Given the description of an element on the screen output the (x, y) to click on. 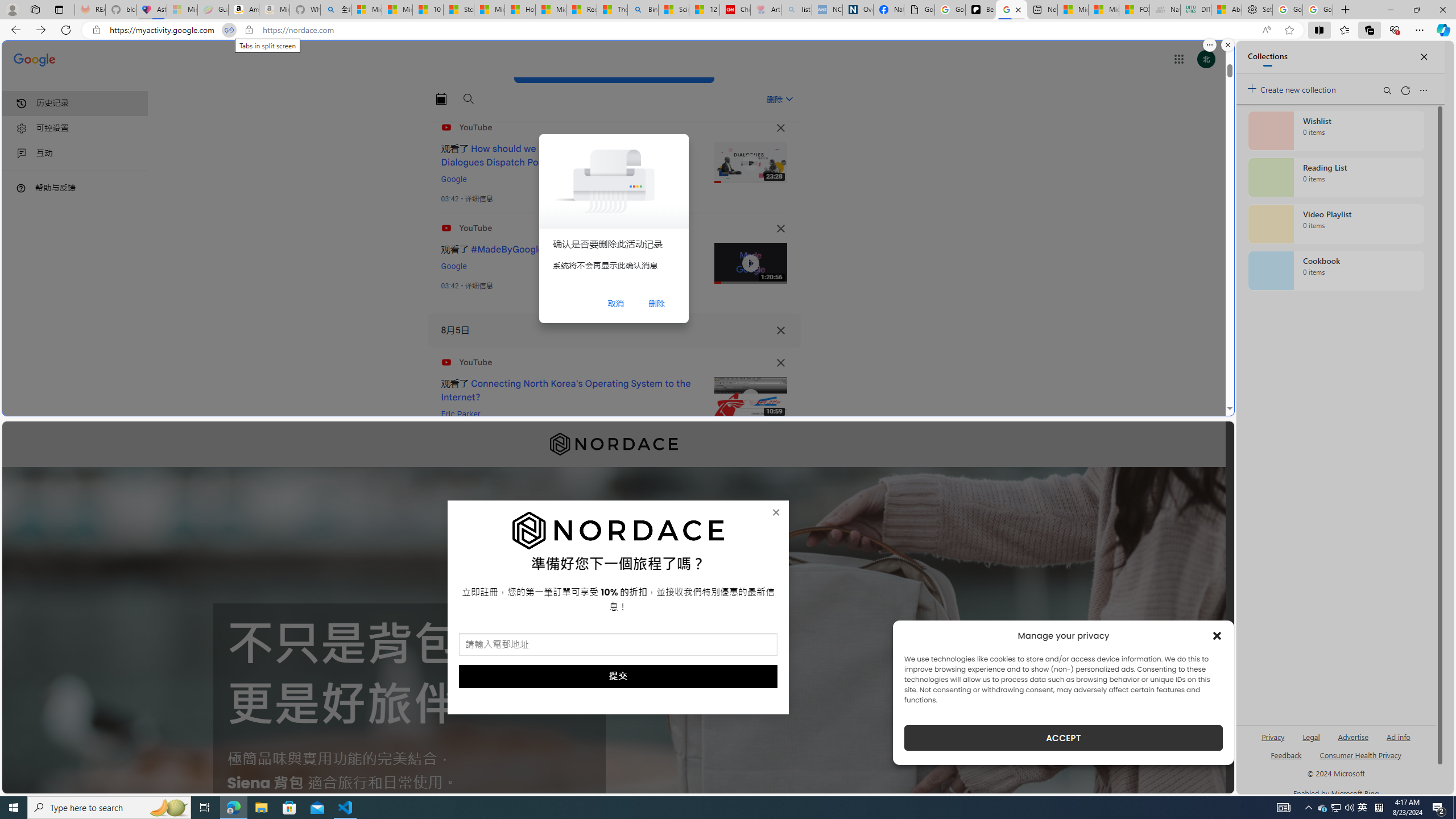
ACCEPT (1063, 737)
Class: asE2Ub NMm5M (788, 99)
More options. (1209, 45)
